Given the description of an element on the screen output the (x, y) to click on. 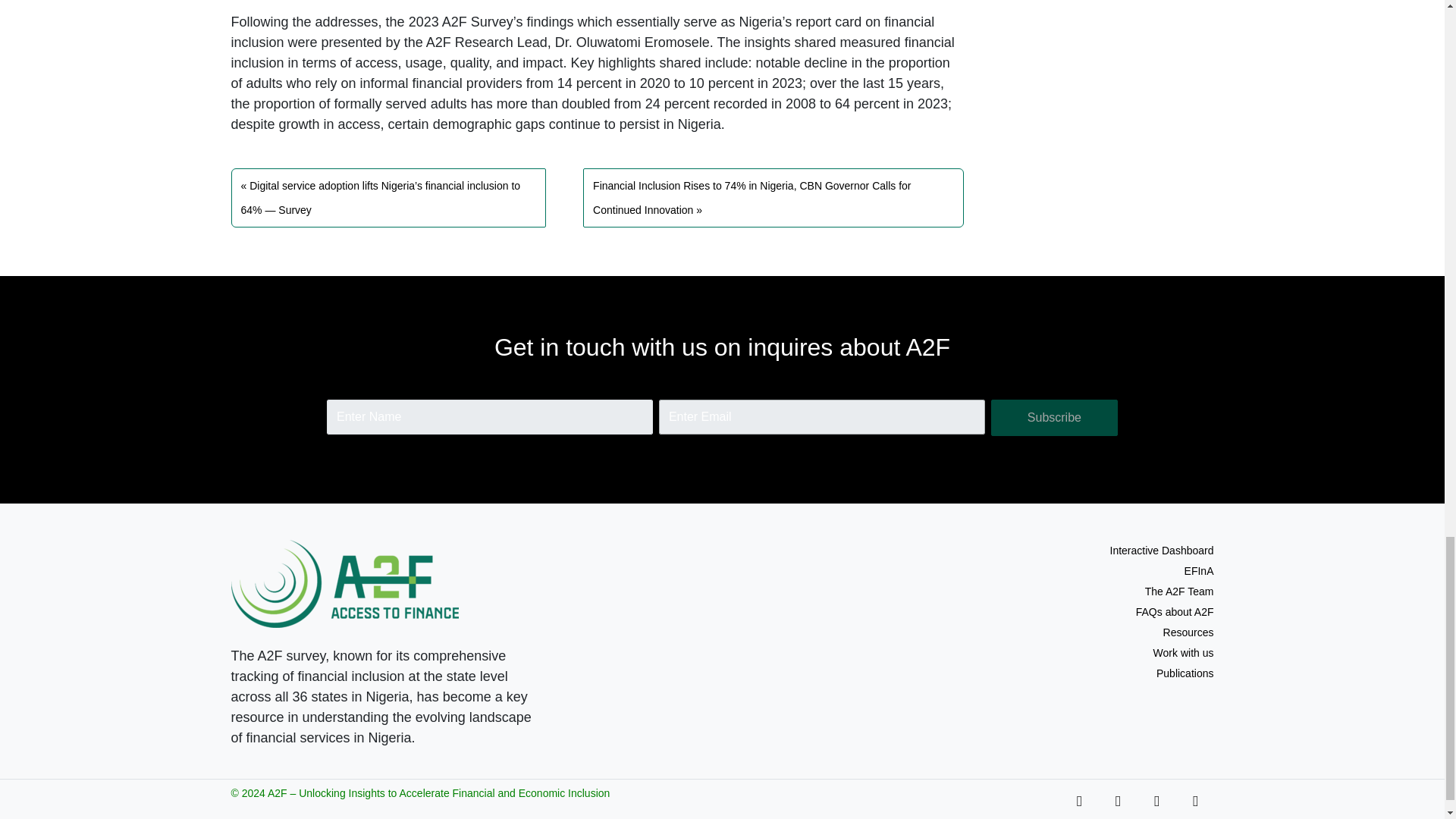
Subscribe (1054, 417)
